Given the description of an element on the screen output the (x, y) to click on. 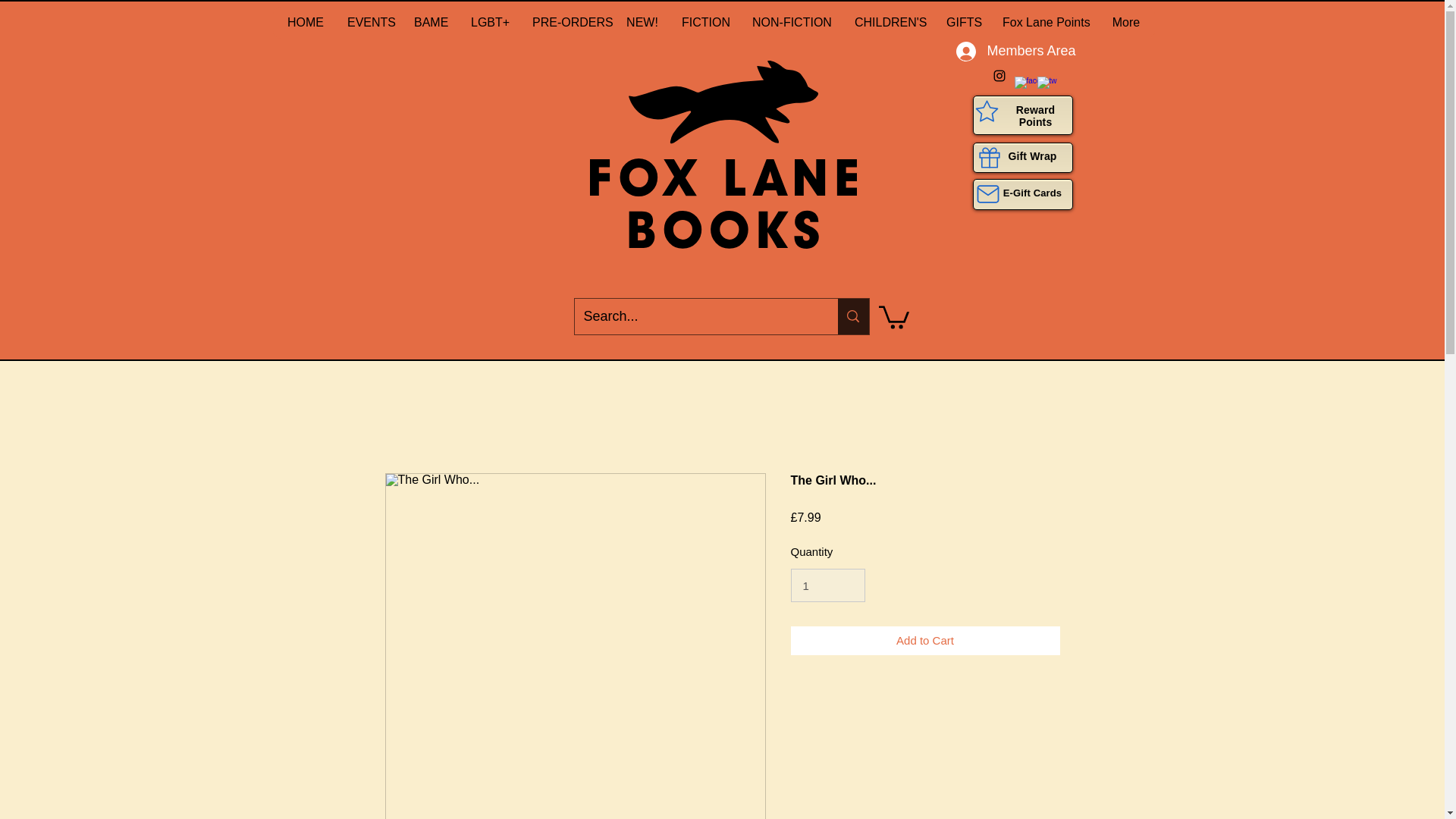
HOME (304, 22)
BAME (429, 22)
NON-FICTION (791, 22)
NEW! (641, 22)
1 (827, 584)
FICTION (704, 22)
PRE-ORDERS (566, 22)
